Given the description of an element on the screen output the (x, y) to click on. 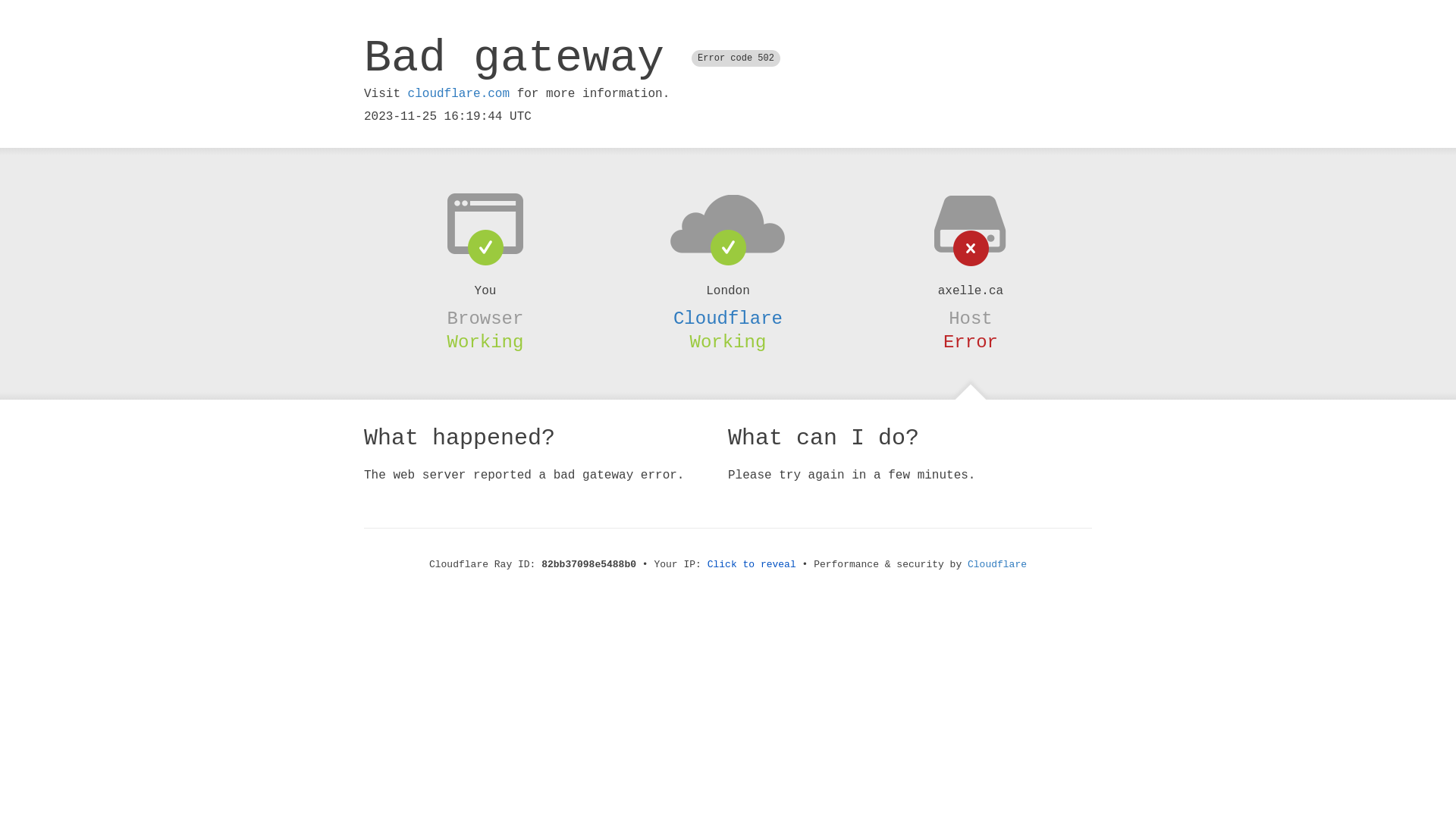
Cloudflare Element type: text (727, 318)
cloudflare.com Element type: text (458, 93)
Cloudflare Element type: text (996, 564)
Click to reveal Element type: text (751, 564)
